Given the description of an element on the screen output the (x, y) to click on. 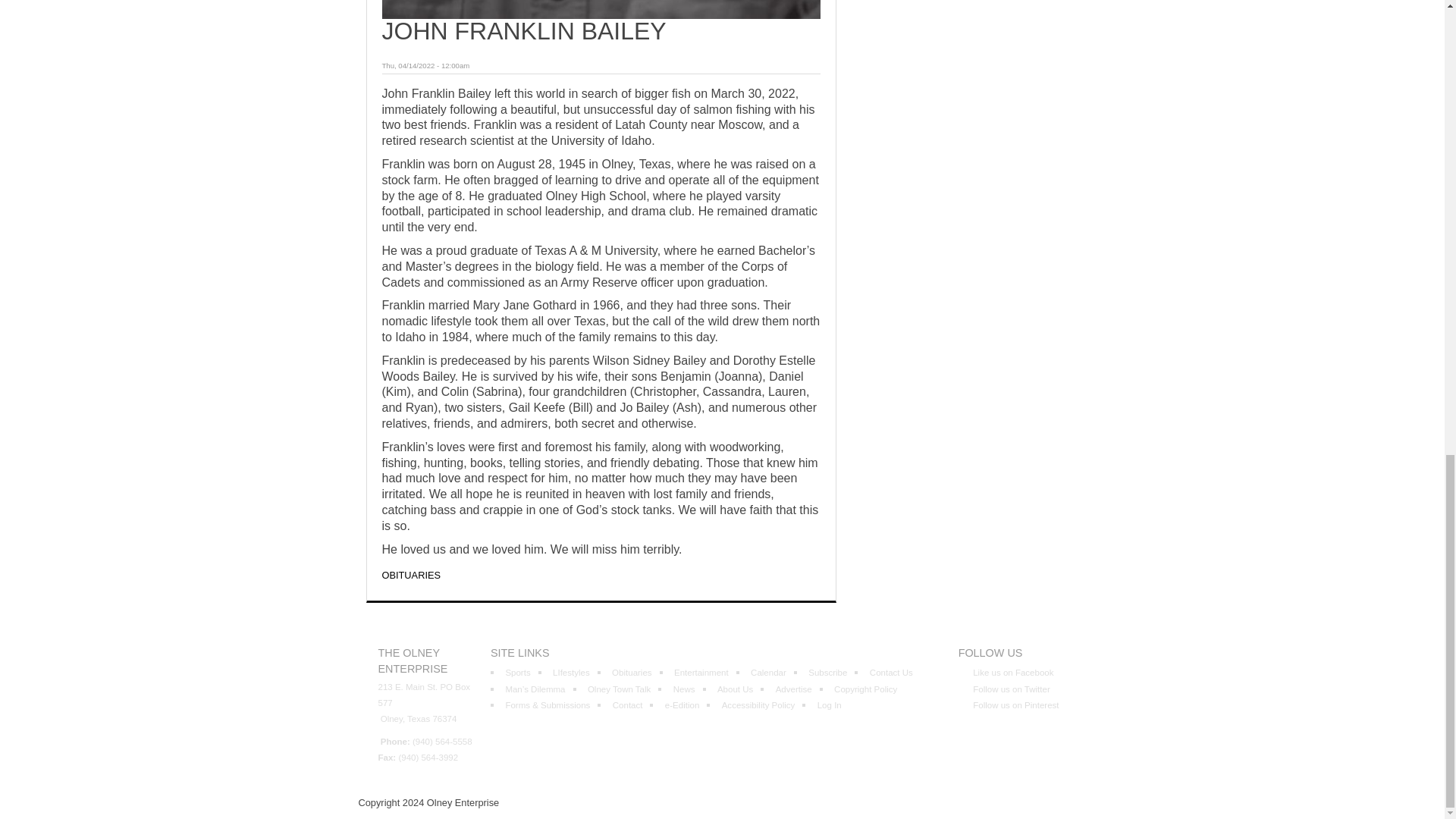
Sports (517, 672)
Contact Us (890, 672)
OBITUARIES (411, 574)
Sports (517, 672)
LIfestyles (571, 672)
Subscribe (827, 672)
Calendar (768, 672)
Obituaries (630, 672)
Entertainment (701, 672)
